Given the description of an element on the screen output the (x, y) to click on. 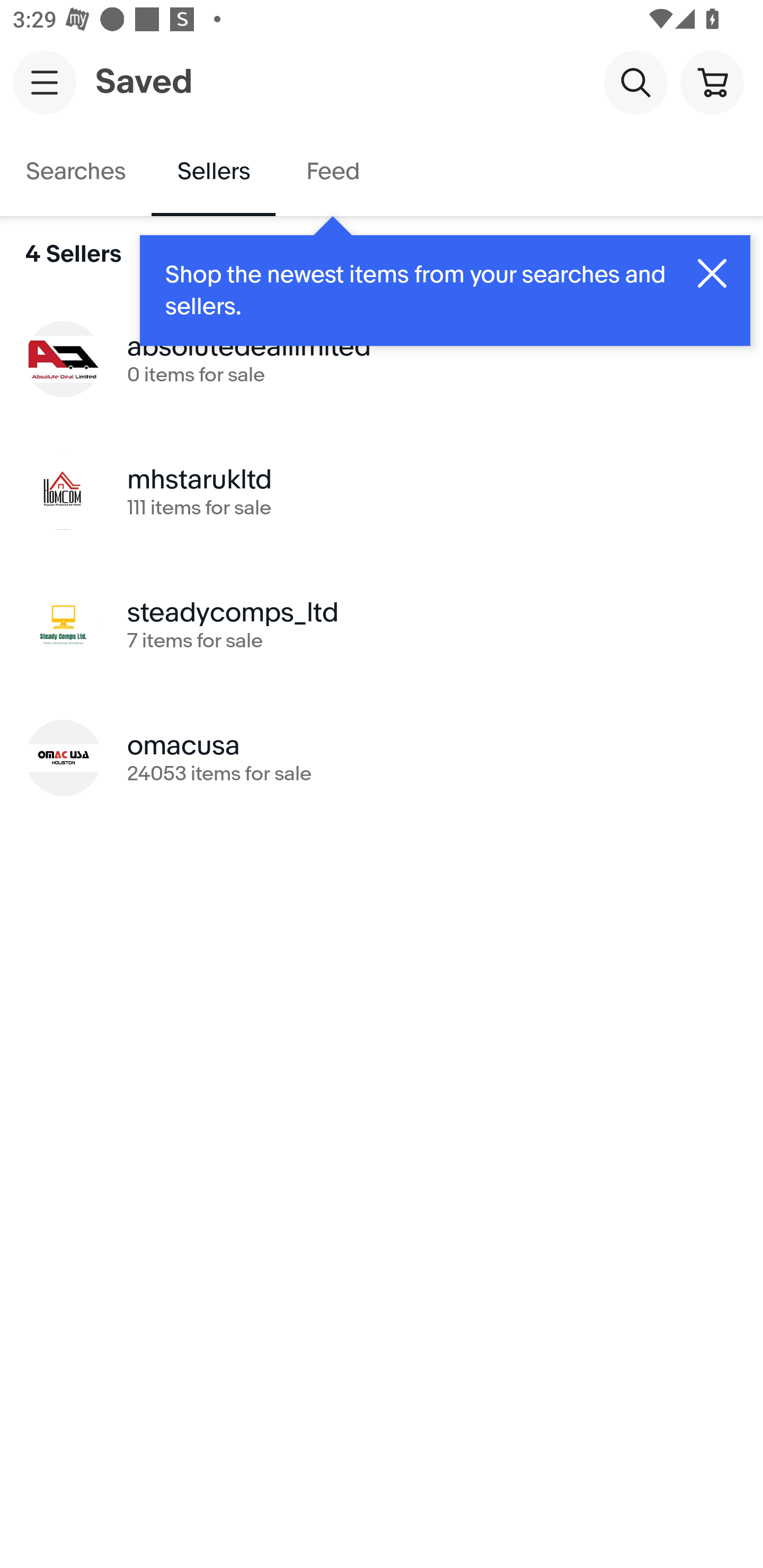
Main navigation, open (44, 82)
Search (635, 81)
Cart button shopping cart (711, 81)
Searches (75, 171)
Feed (332, 171)
mhstarukltd 111 items for sale (381, 491)
steadycomps_ltd 7 items for sale (381, 624)
omacusa 24053 items for sale (381, 757)
